Given the description of an element on the screen output the (x, y) to click on. 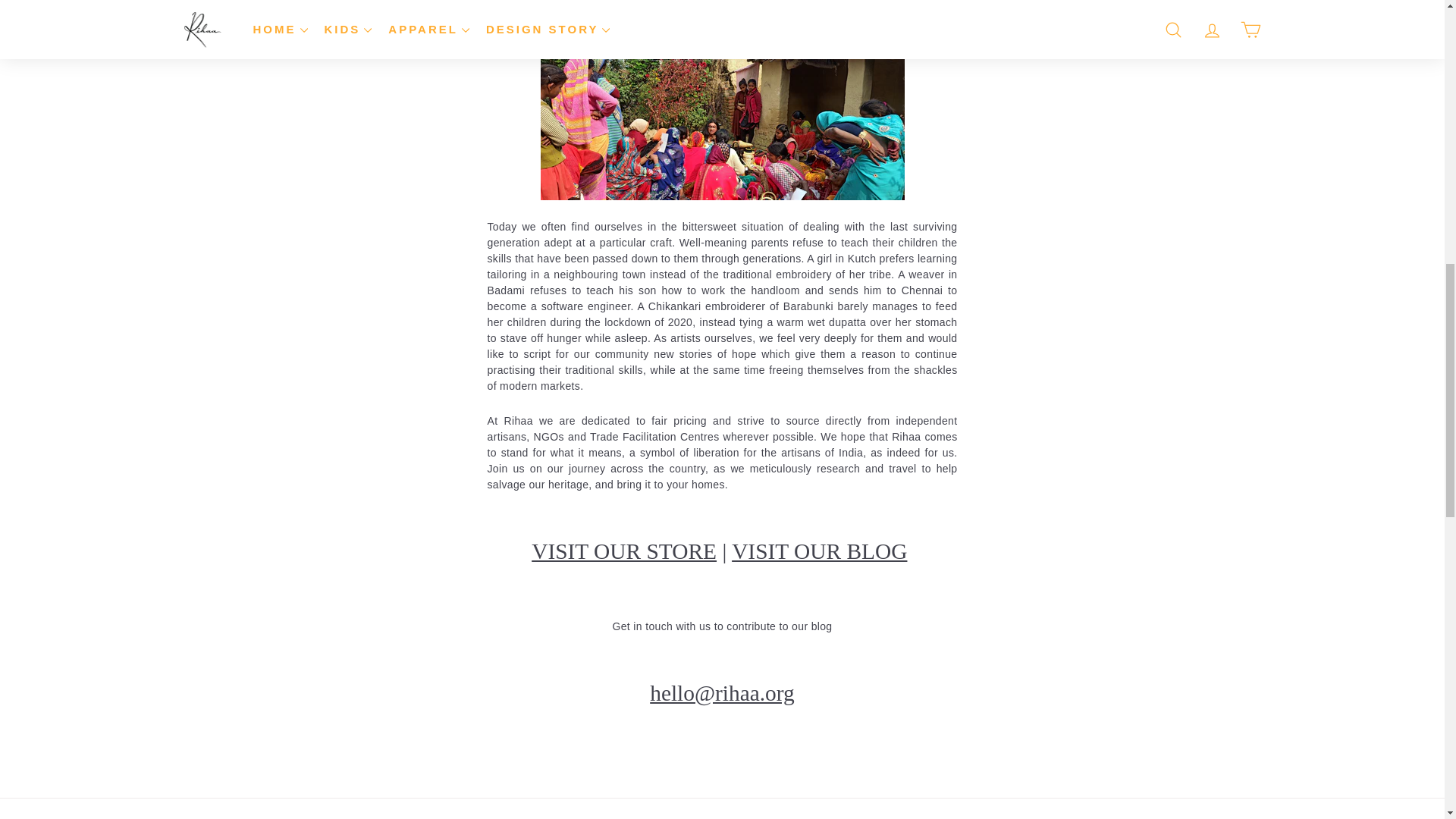
Blog (819, 550)
Email us (721, 692)
Shop (623, 550)
